Given the description of an element on the screen output the (x, y) to click on. 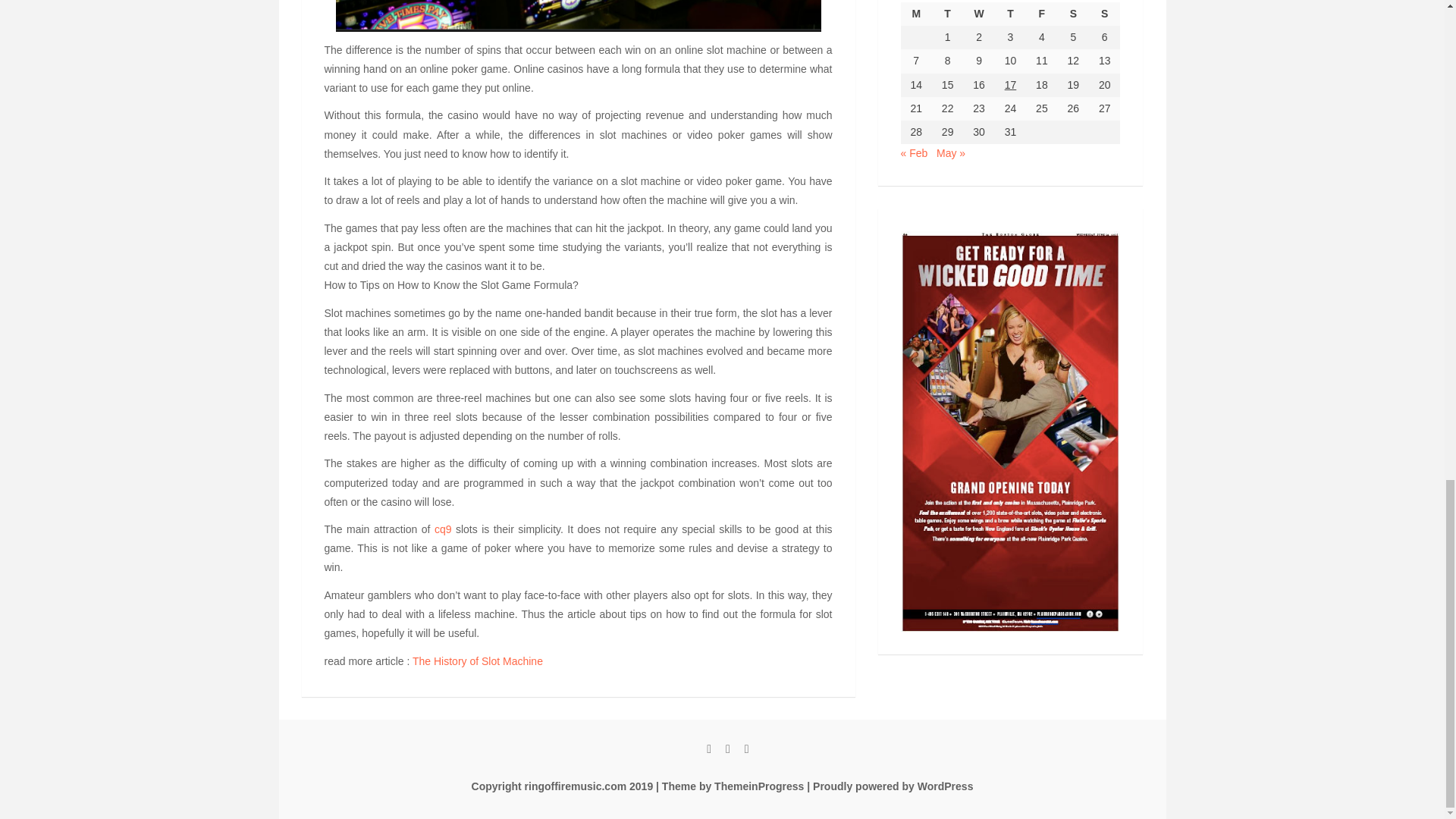
Monday (916, 13)
The History of Slot Machine (477, 661)
Tuesday (946, 13)
Thursday (1010, 13)
cq9 (442, 529)
Sunday (1104, 13)
A Semantic Personal Publishing Platform (889, 786)
Wednesday (978, 13)
Saturday (1073, 13)
Friday (1041, 13)
